Given the description of an element on the screen output the (x, y) to click on. 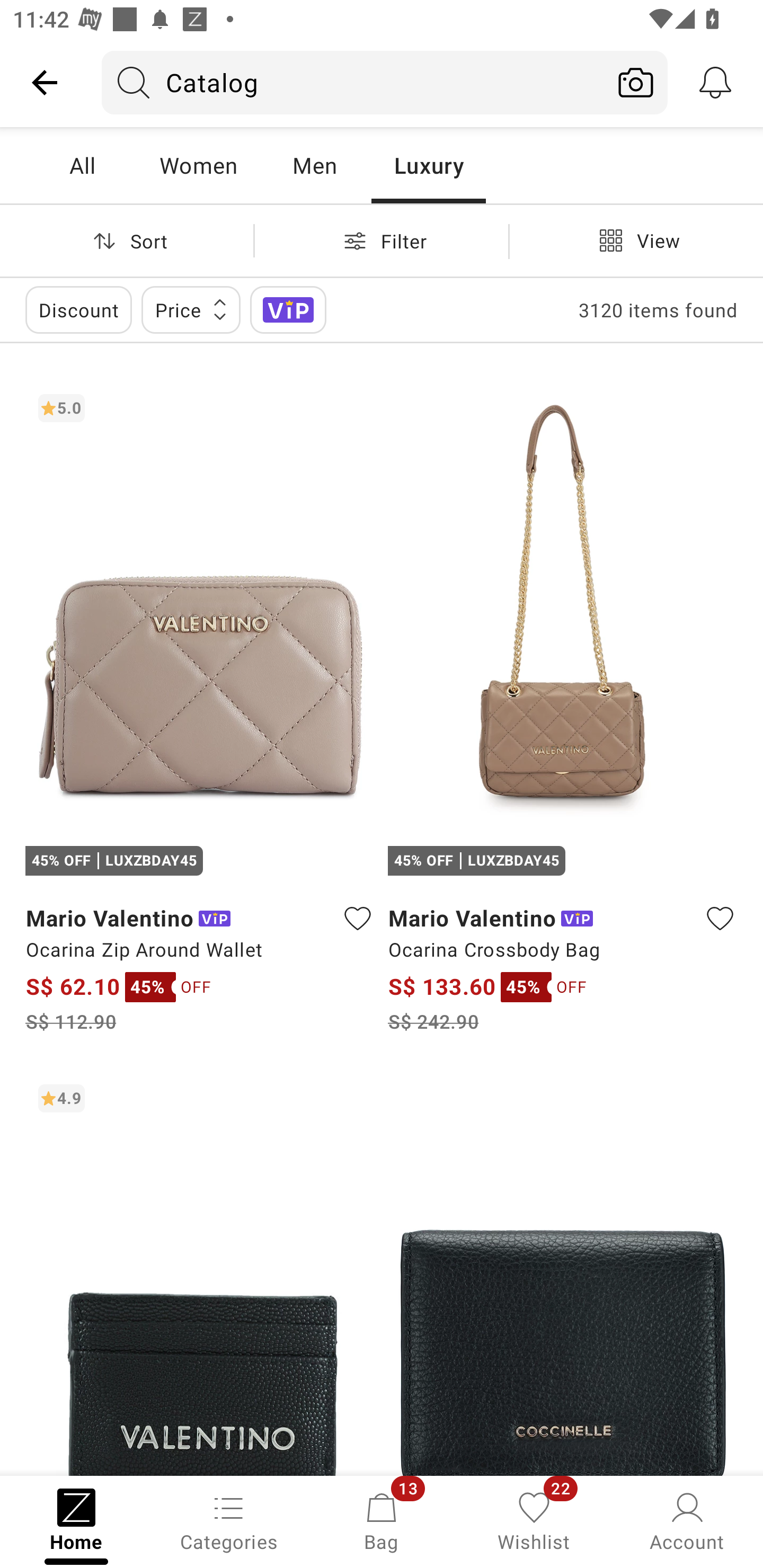
Navigate up (44, 82)
Catalog (352, 82)
All (82, 165)
Women (198, 165)
Men (314, 165)
Sort (126, 240)
Filter (381, 240)
View (636, 240)
Discount (78, 309)
Price (190, 309)
4.9 (200, 1272)
Categories (228, 1519)
Bag, 13 new notifications Bag (381, 1519)
Wishlist, 22 new notifications Wishlist (533, 1519)
Account (686, 1519)
